Given the description of an element on the screen output the (x, y) to click on. 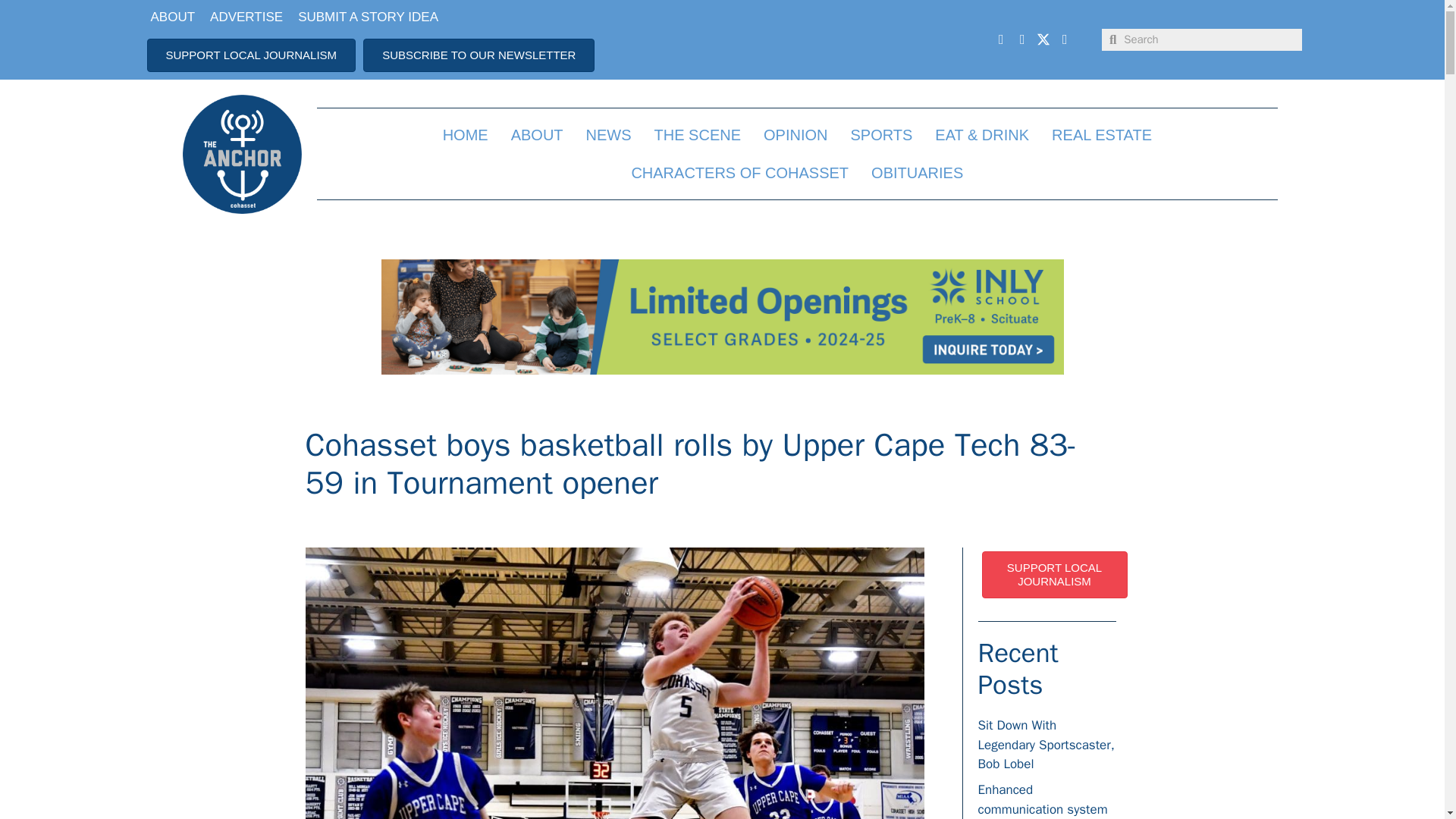
OPINION (795, 134)
SUBMIT A STORY IDEA (367, 17)
Email (1064, 38)
REAL ESTATE (1102, 134)
THE SCENE (697, 134)
SUPPORT LOCAL JOURNALISM (251, 54)
NEWS (609, 134)
OBITUARIES (917, 172)
Facebook (1000, 38)
SPORTS (880, 134)
